Given the description of an element on the screen output the (x, y) to click on. 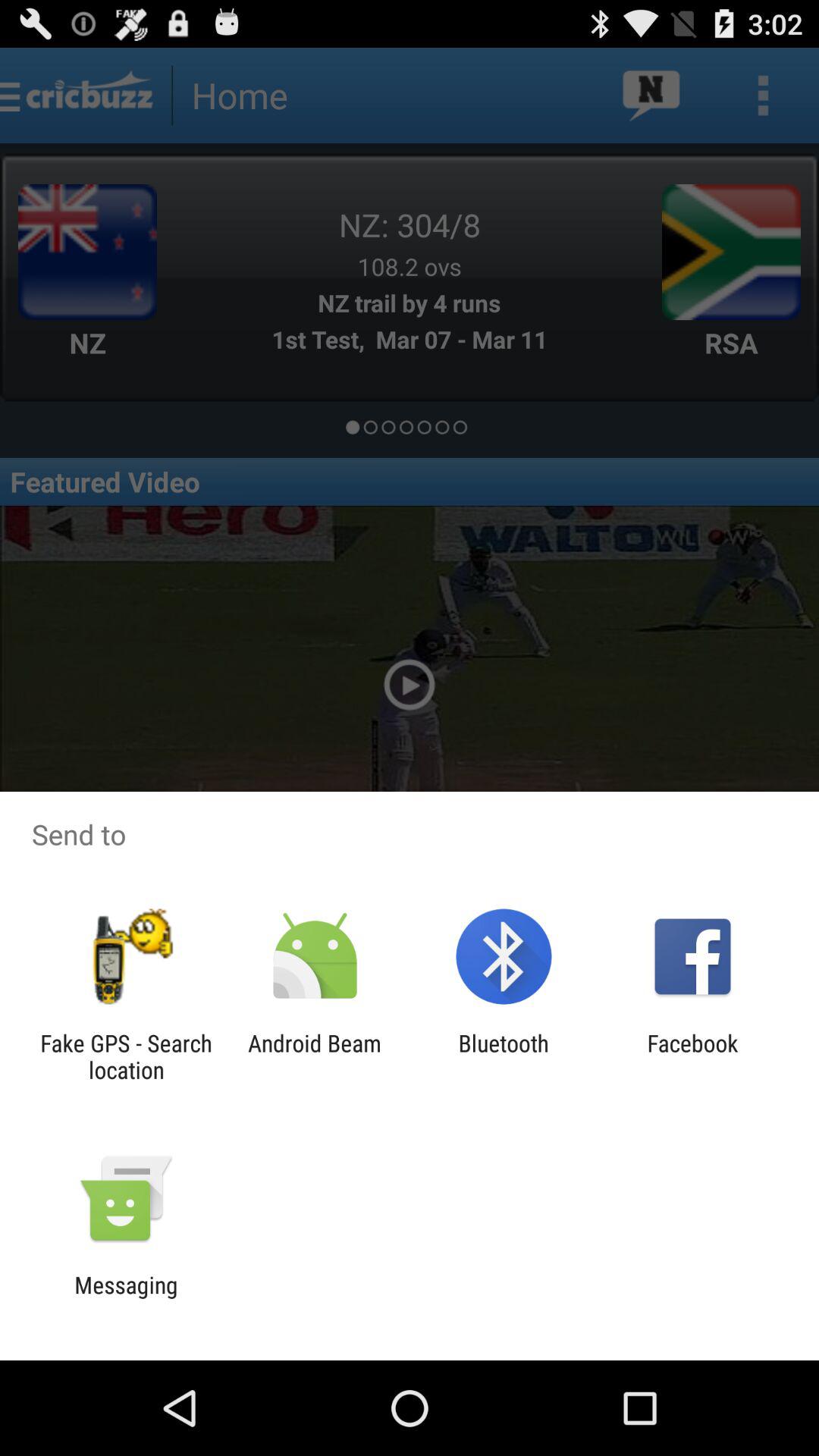
turn on app next to the android beam icon (125, 1056)
